Given the description of an element on the screen output the (x, y) to click on. 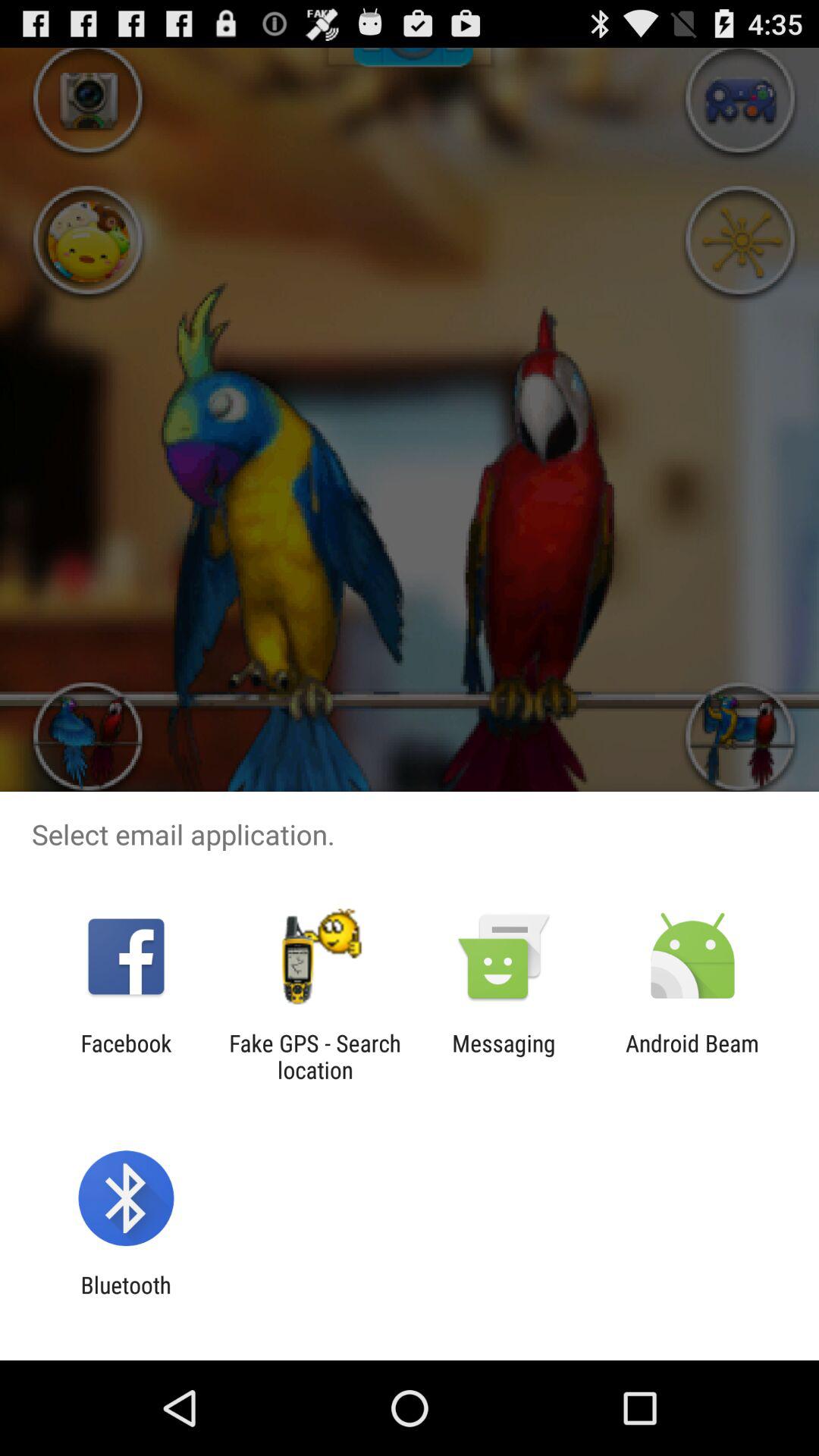
open the icon to the right of the facebook icon (314, 1056)
